Given the description of an element on the screen output the (x, y) to click on. 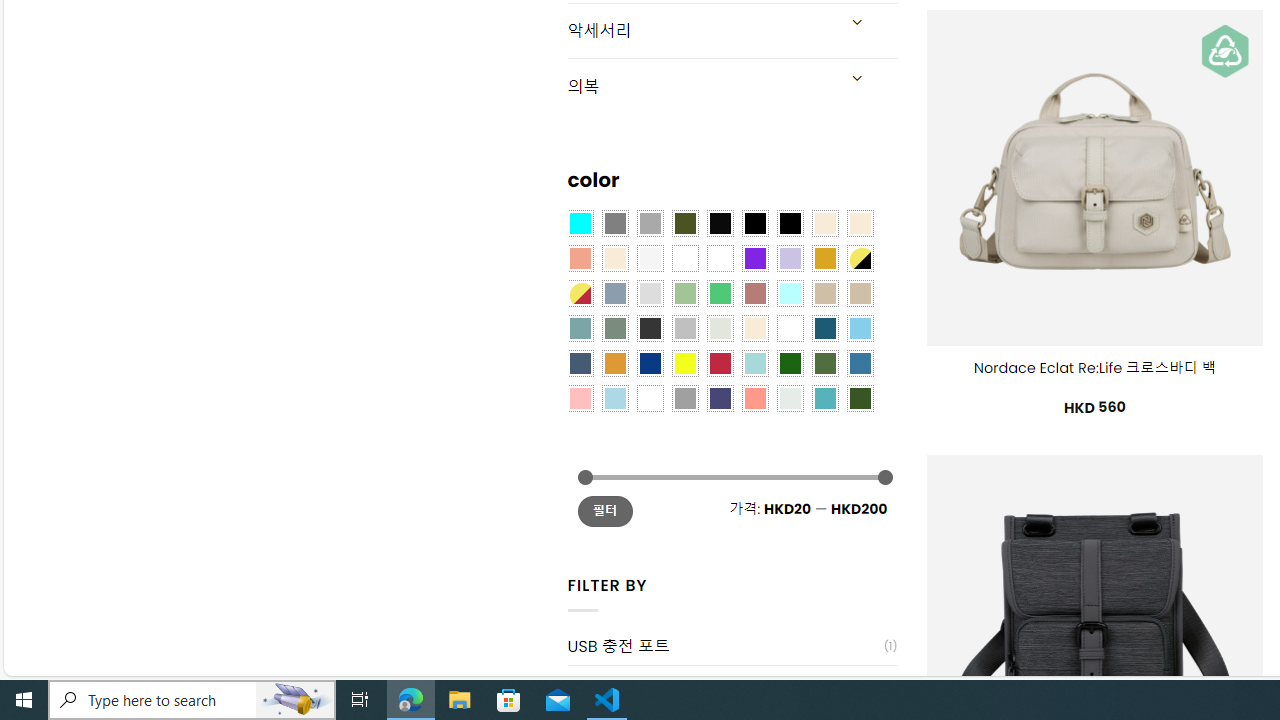
Cream (614, 257)
